Given the description of an element on the screen output the (x, y) to click on. 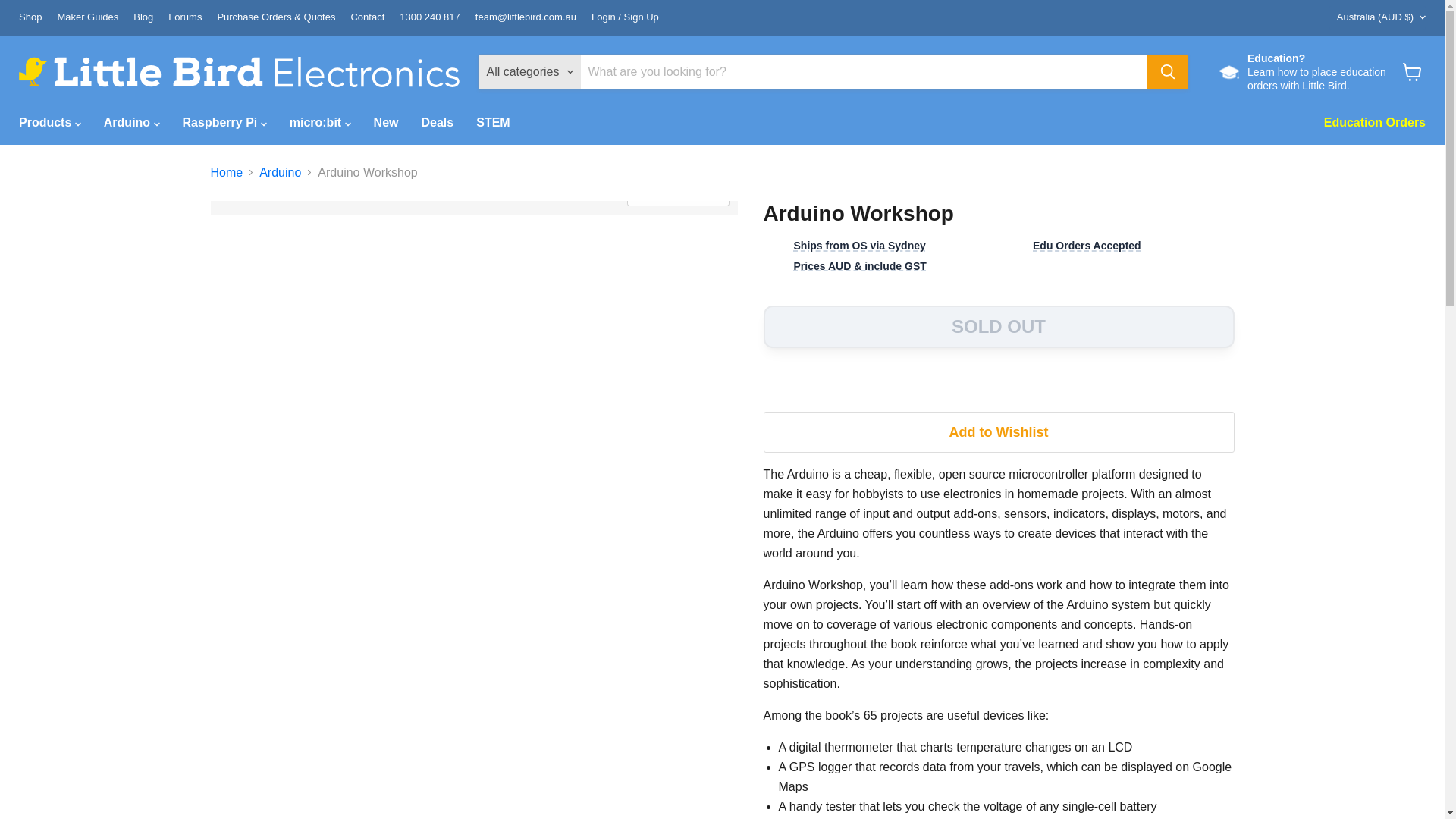
Blog (142, 17)
Maker Guides (86, 17)
1300 240 817 (429, 17)
Forums (185, 17)
Contact (367, 17)
Shop (30, 17)
